Given the description of an element on the screen output the (x, y) to click on. 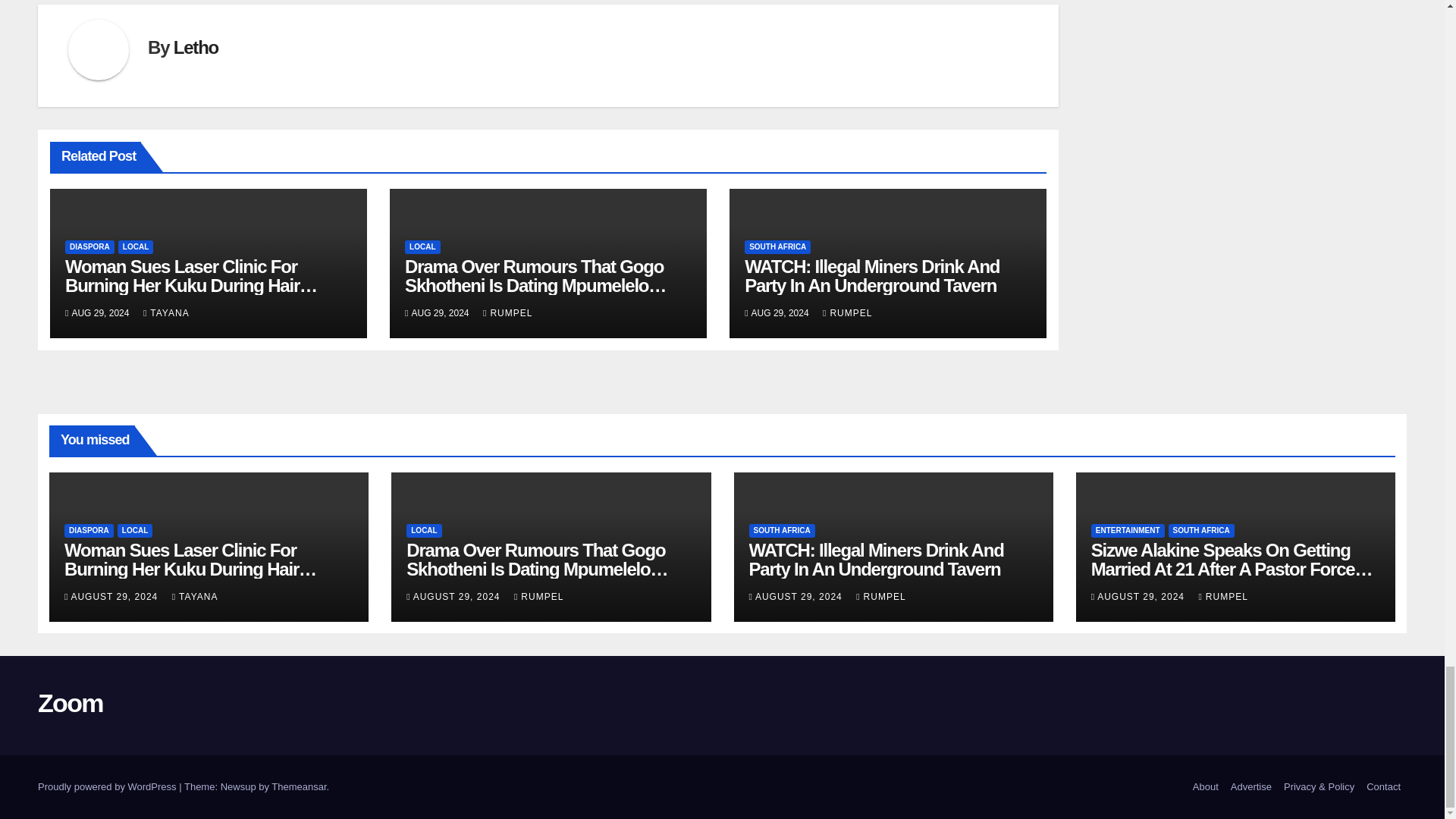
LOCAL (134, 246)
Letho (195, 46)
Advertise (1251, 786)
About (1205, 786)
DIASPORA (90, 246)
